Given the description of an element on the screen output the (x, y) to click on. 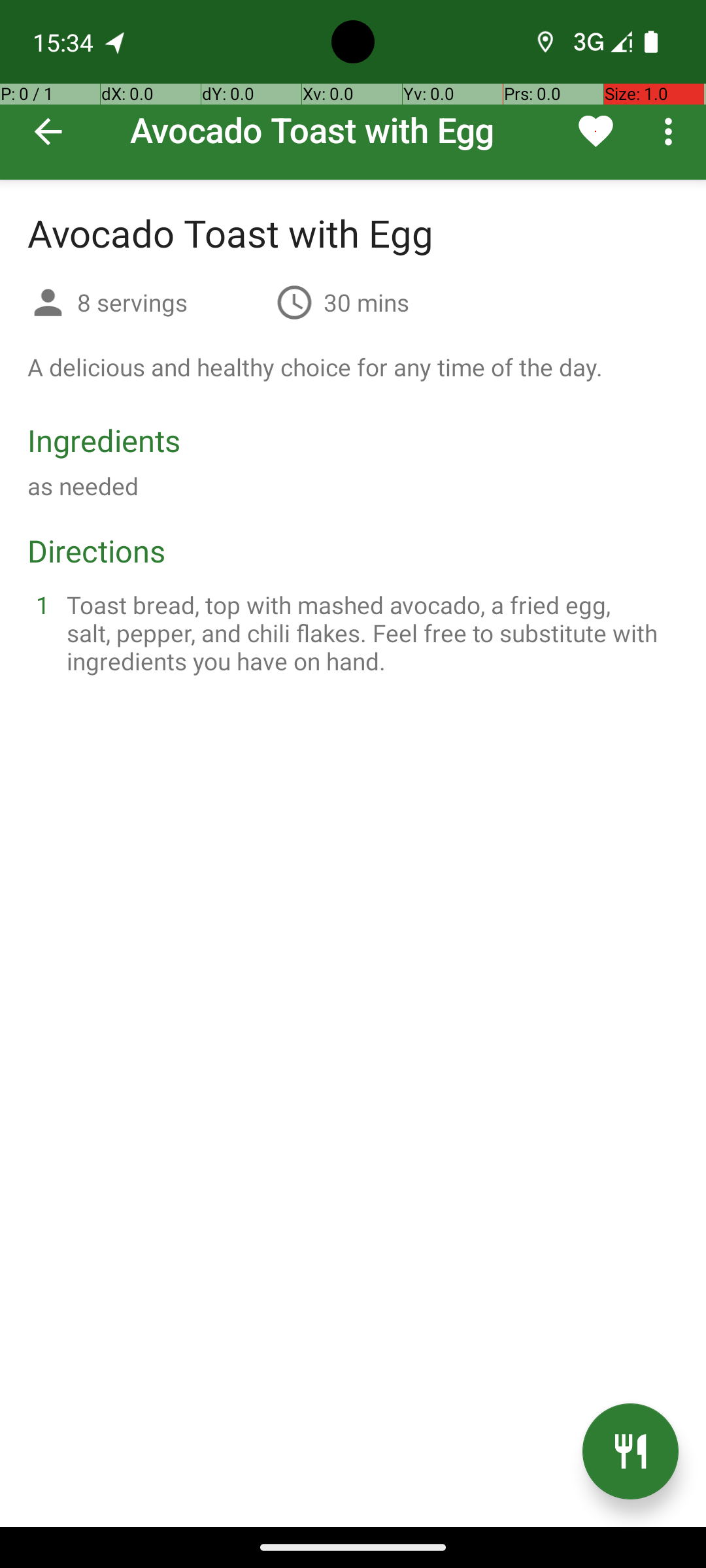
Toast bread, top with mashed avocado, a fried egg, salt, pepper, and chili flakes. Feel free to substitute with ingredients you have on hand. Element type: android.widget.TextView (368, 632)
